Given the description of an element on the screen output the (x, y) to click on. 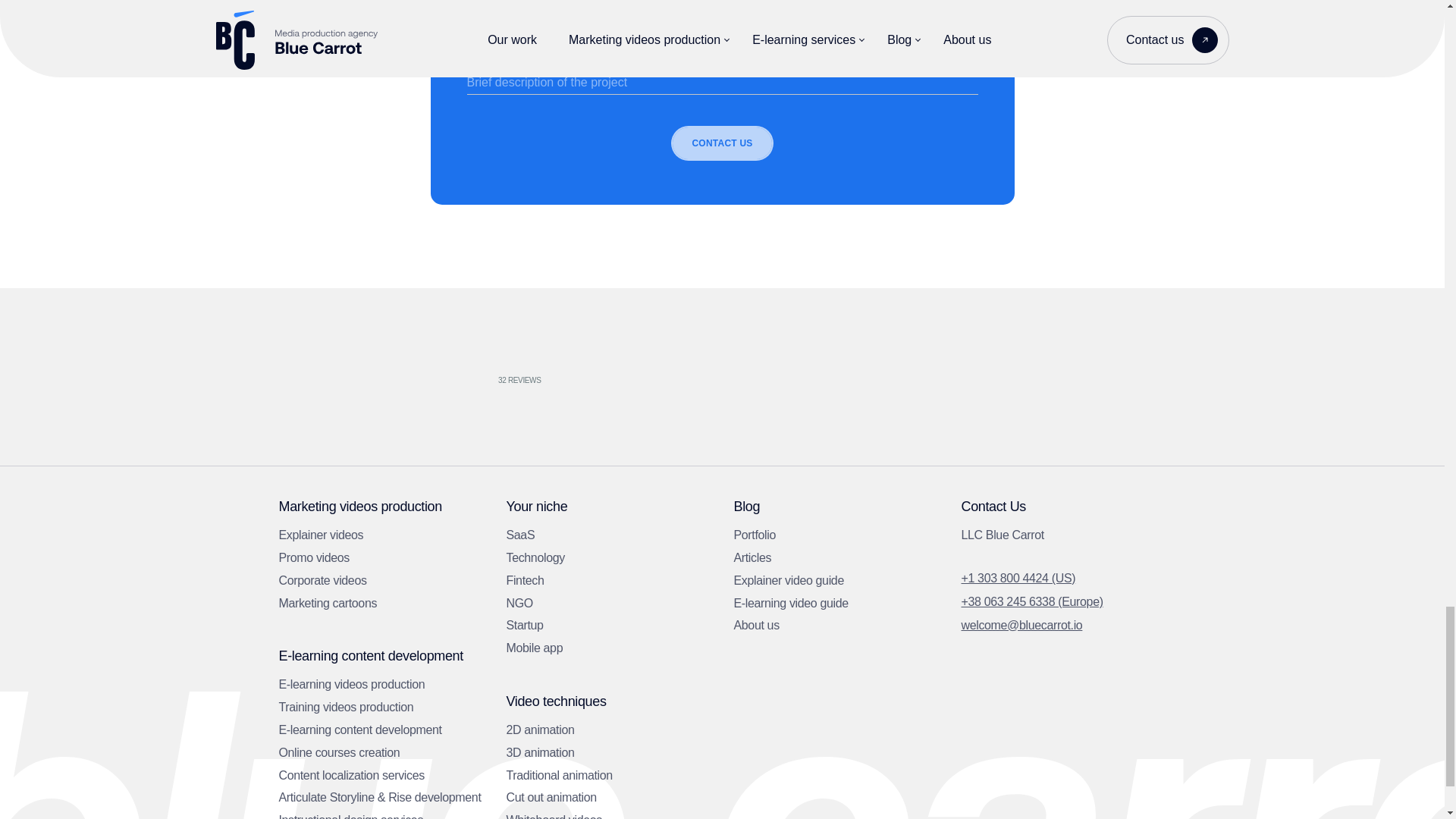
We're on Clutch.co (494, 374)
We're on Behance (798, 373)
We're on webdesignrankings (343, 373)
